Given the description of an element on the screen output the (x, y) to click on. 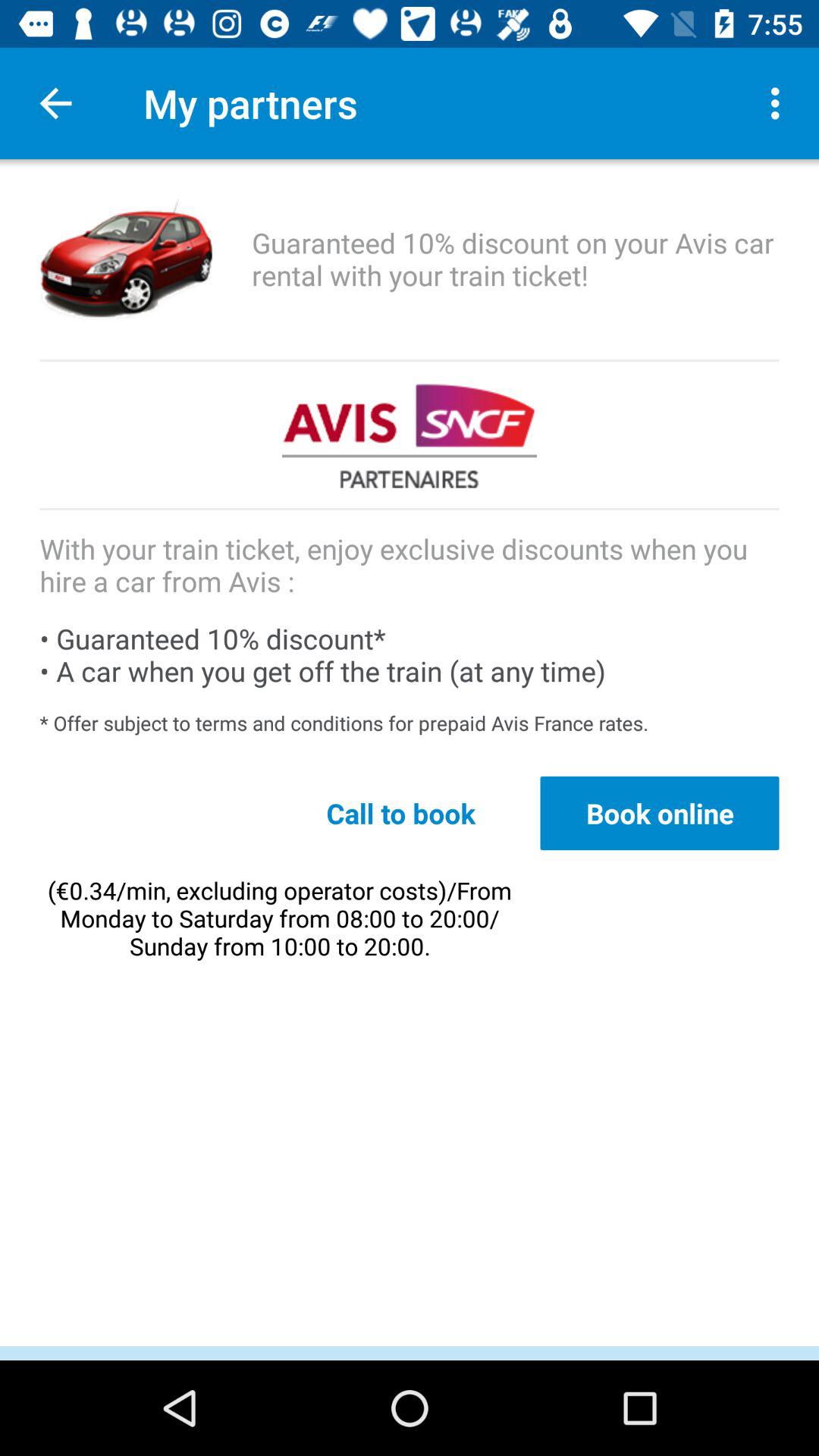
swipe to the call to book icon (400, 813)
